Given the description of an element on the screen output the (x, y) to click on. 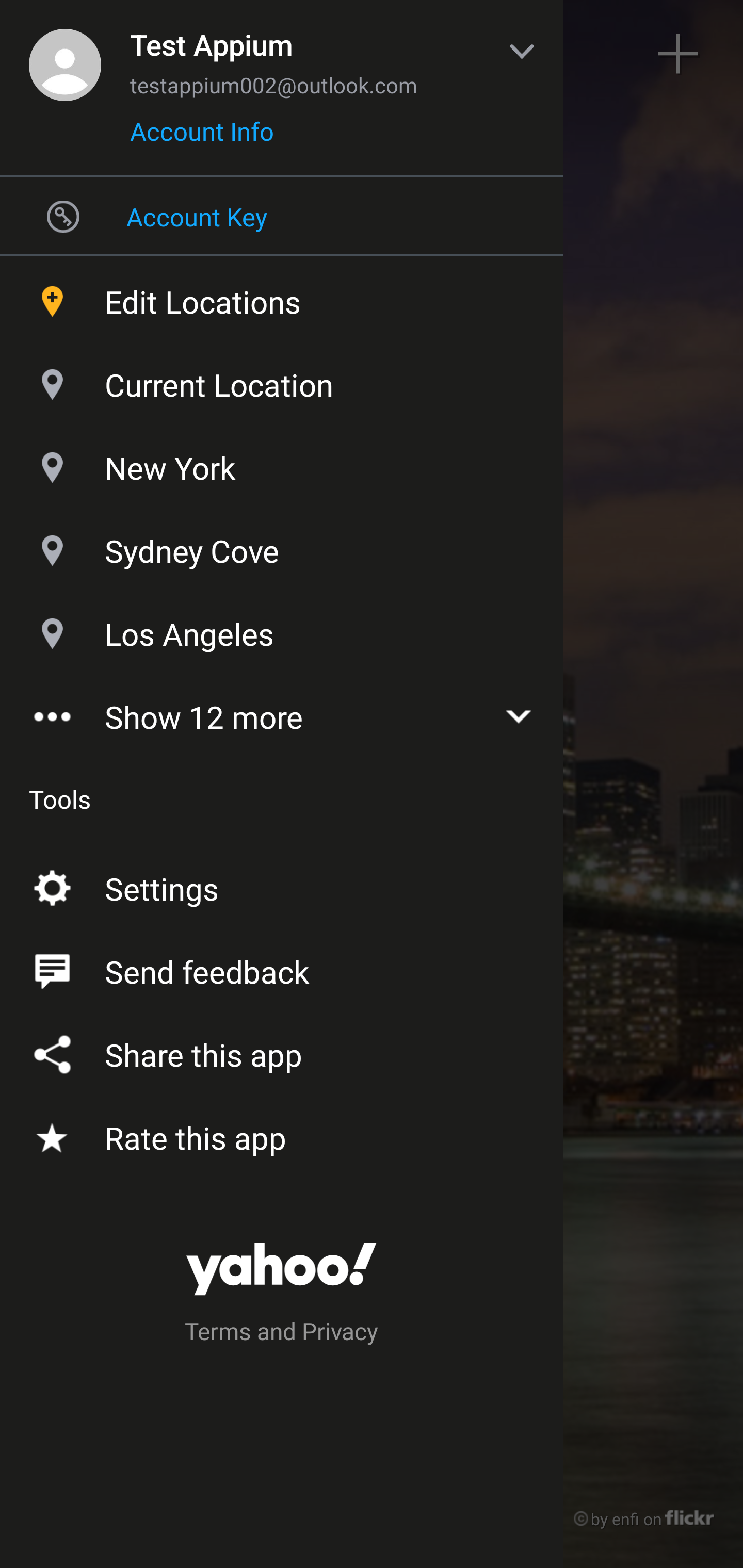
Sidebar (64, 54)
Account Info (202, 137)
Account Key (281, 216)
Edit Locations (281, 296)
Current Location (281, 379)
New York (281, 462)
Sydney Cove (281, 546)
Los Angeles (281, 629)
Settings (281, 884)
Send feedback (281, 967)
Share this app (281, 1050)
Terms and Privacy Terms and privacy button (281, 1334)
